Given the description of an element on the screen output the (x, y) to click on. 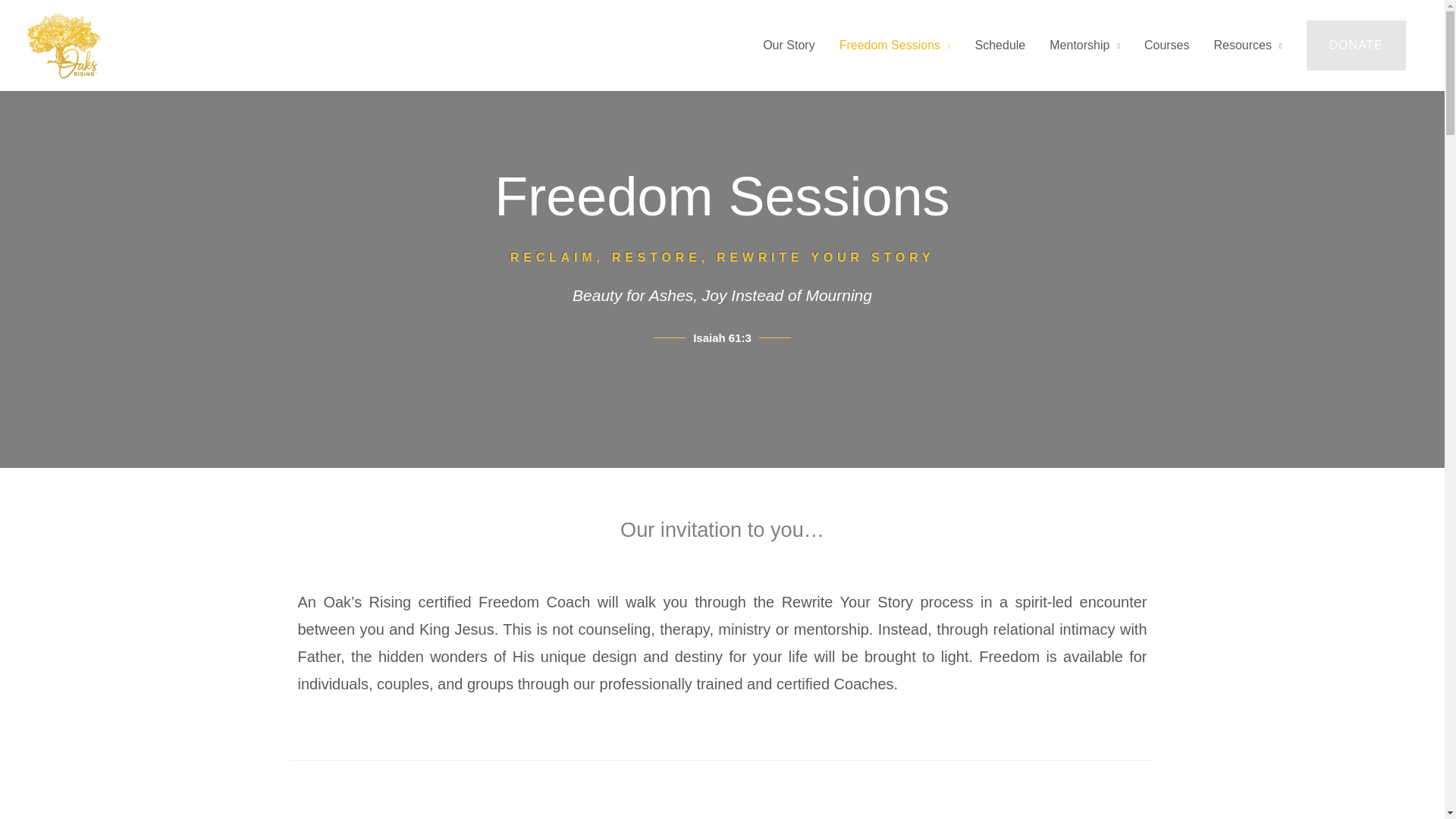
DONATE (1356, 45)
Resources (1248, 45)
Mentorship (1084, 45)
Freedom Sessions (894, 45)
